Given the description of an element on the screen output the (x, y) to click on. 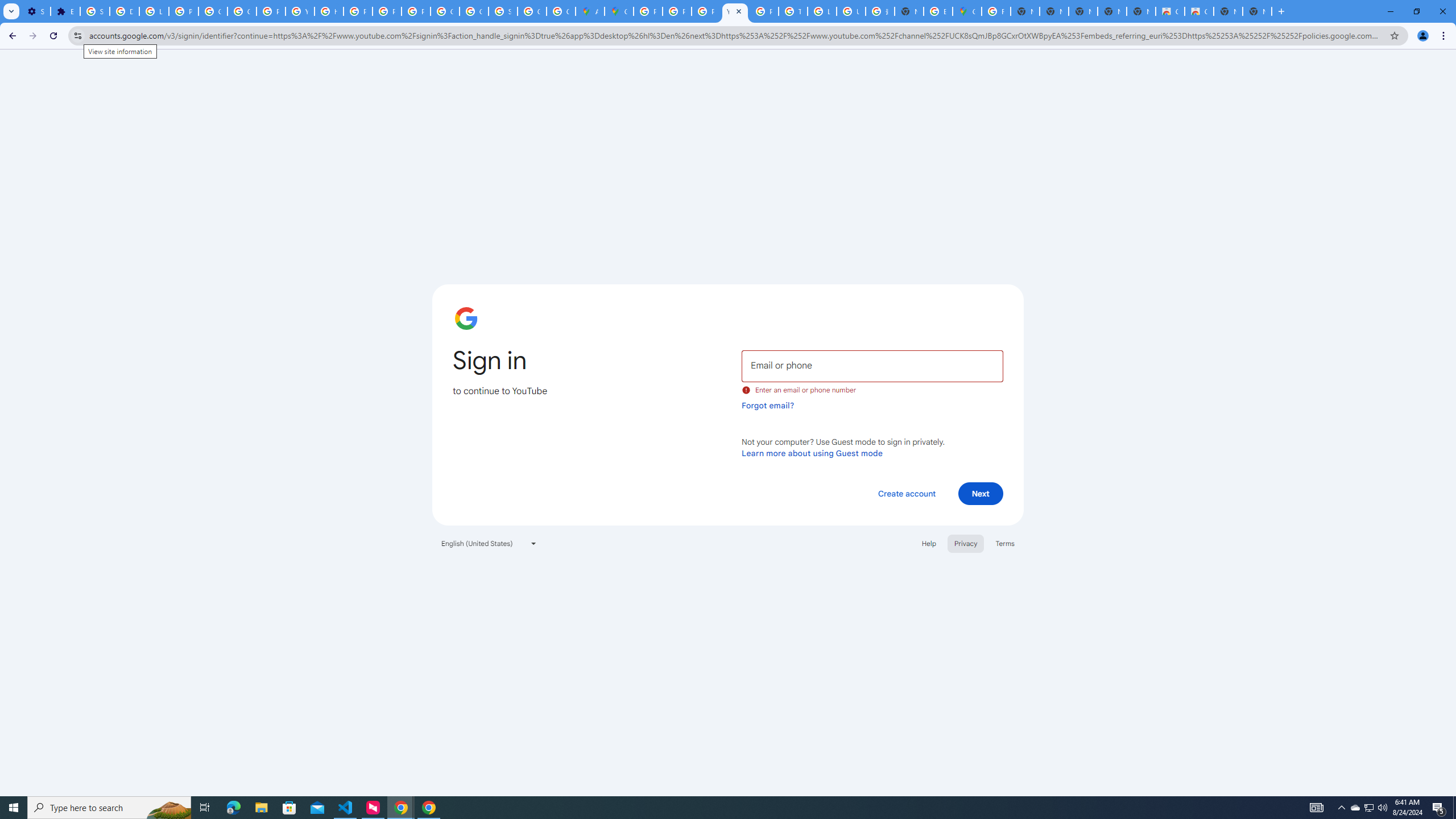
Privacy Help Center - Policies Help (357, 11)
New Tab (908, 11)
Classic Blue - Chrome Web Store (1198, 11)
Google Account Help (212, 11)
Classic Blue - Chrome Web Store (1169, 11)
Tips & tricks for Chrome - Google Chrome Help (792, 11)
